Given the description of an element on the screen output the (x, y) to click on. 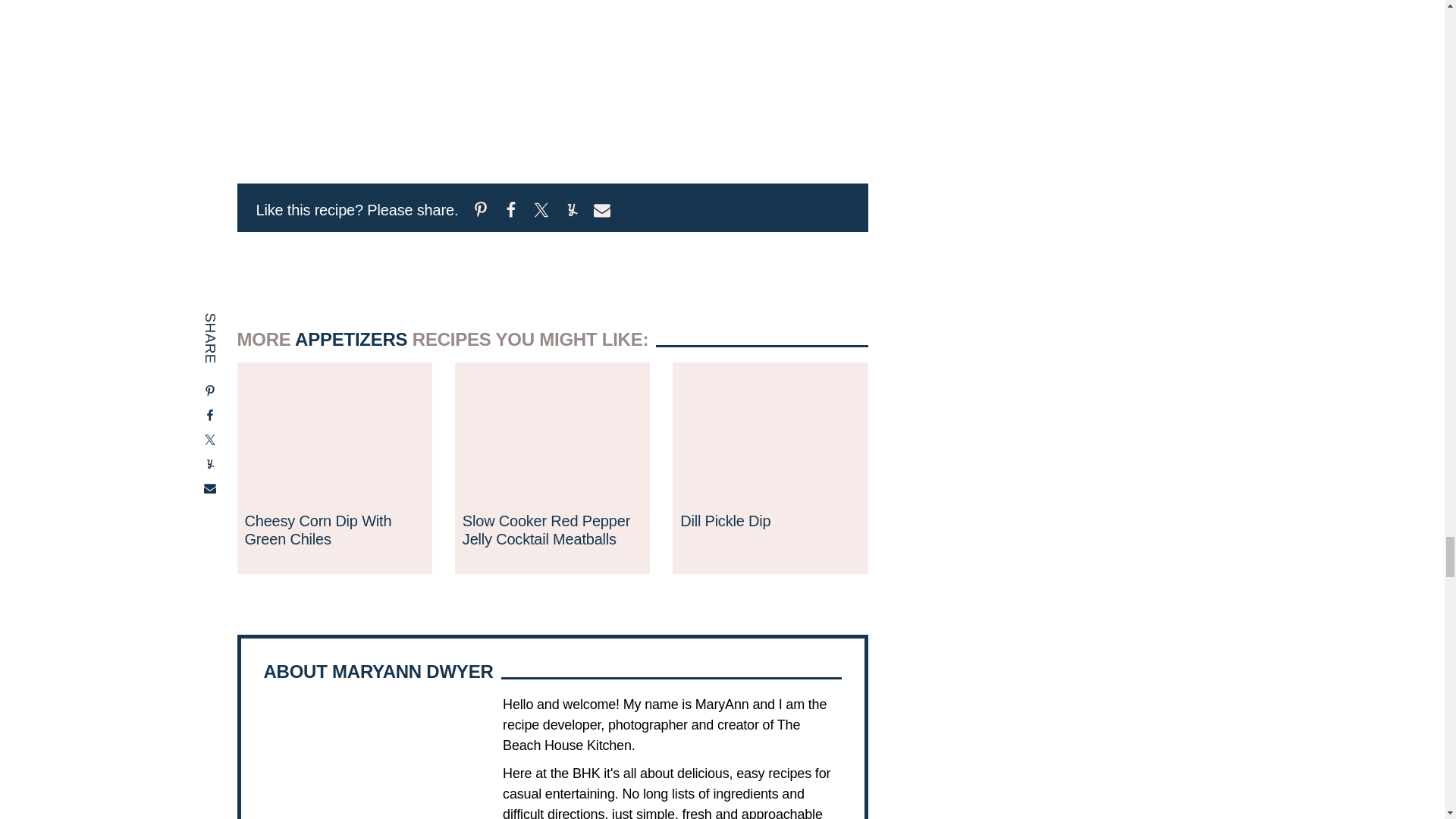
Share on Facebook (510, 214)
Slow Cooker Red Pepper Jelly Cocktail Meatballs (546, 529)
Cheesy Corn Dip with Green Chiles (317, 529)
Share on Yummly (571, 214)
Dill Pickle Dip (769, 372)
Share via Email (601, 214)
Cheesy Corn Dip with Green Chiles (332, 372)
Share on Pinterest (480, 214)
Dill Pickle Dip (724, 520)
Slow Cooker Red Pepper Jelly Cocktail Meatballs (551, 372)
